Given the description of an element on the screen output the (x, y) to click on. 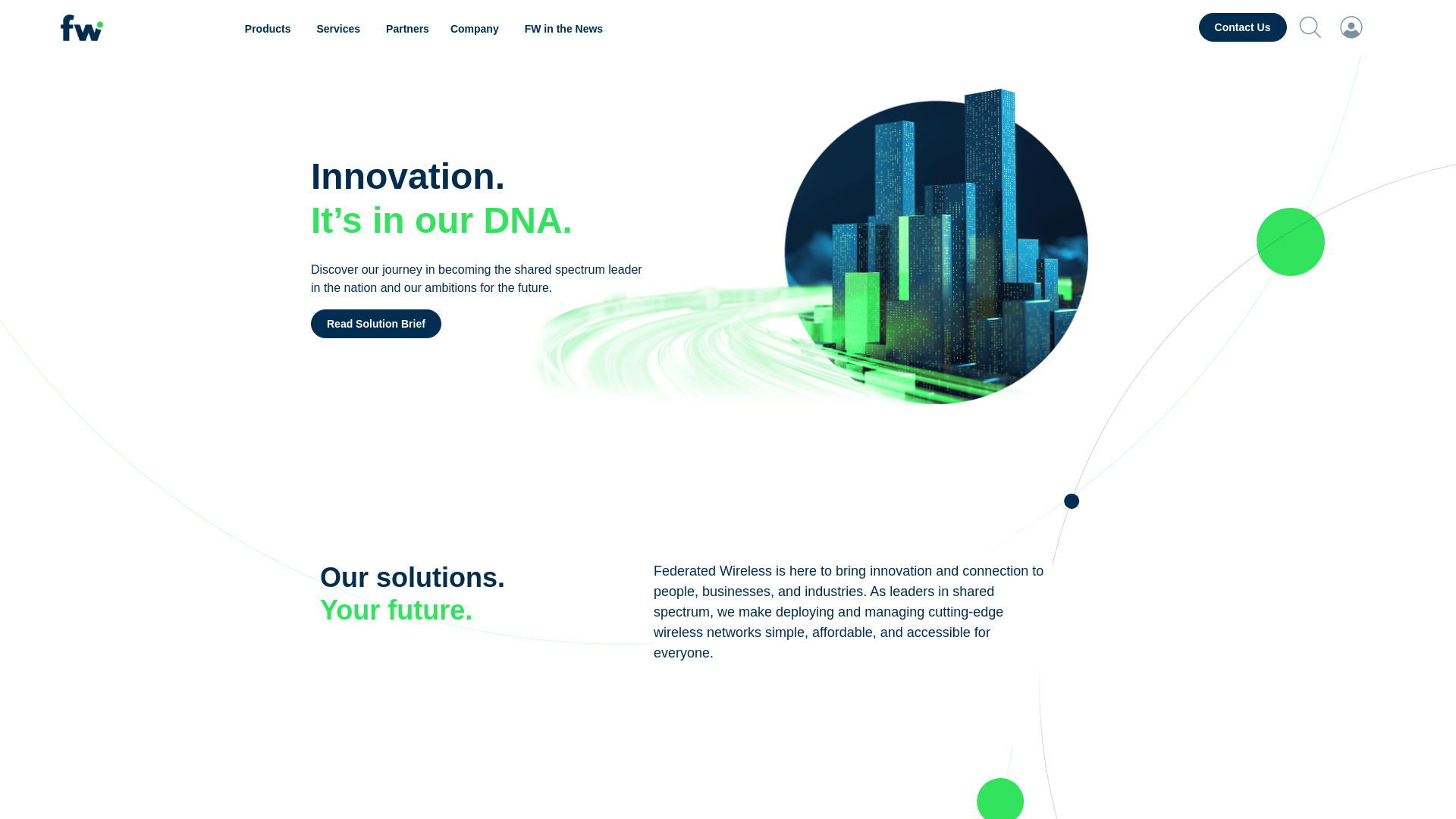
Services (340, 29)
Company (476, 29)
Partners (407, 29)
FW in the News (563, 29)
Read Solution Brief (376, 323)
Contact Us (1242, 27)
Products (269, 29)
